Given the description of an element on the screen output the (x, y) to click on. 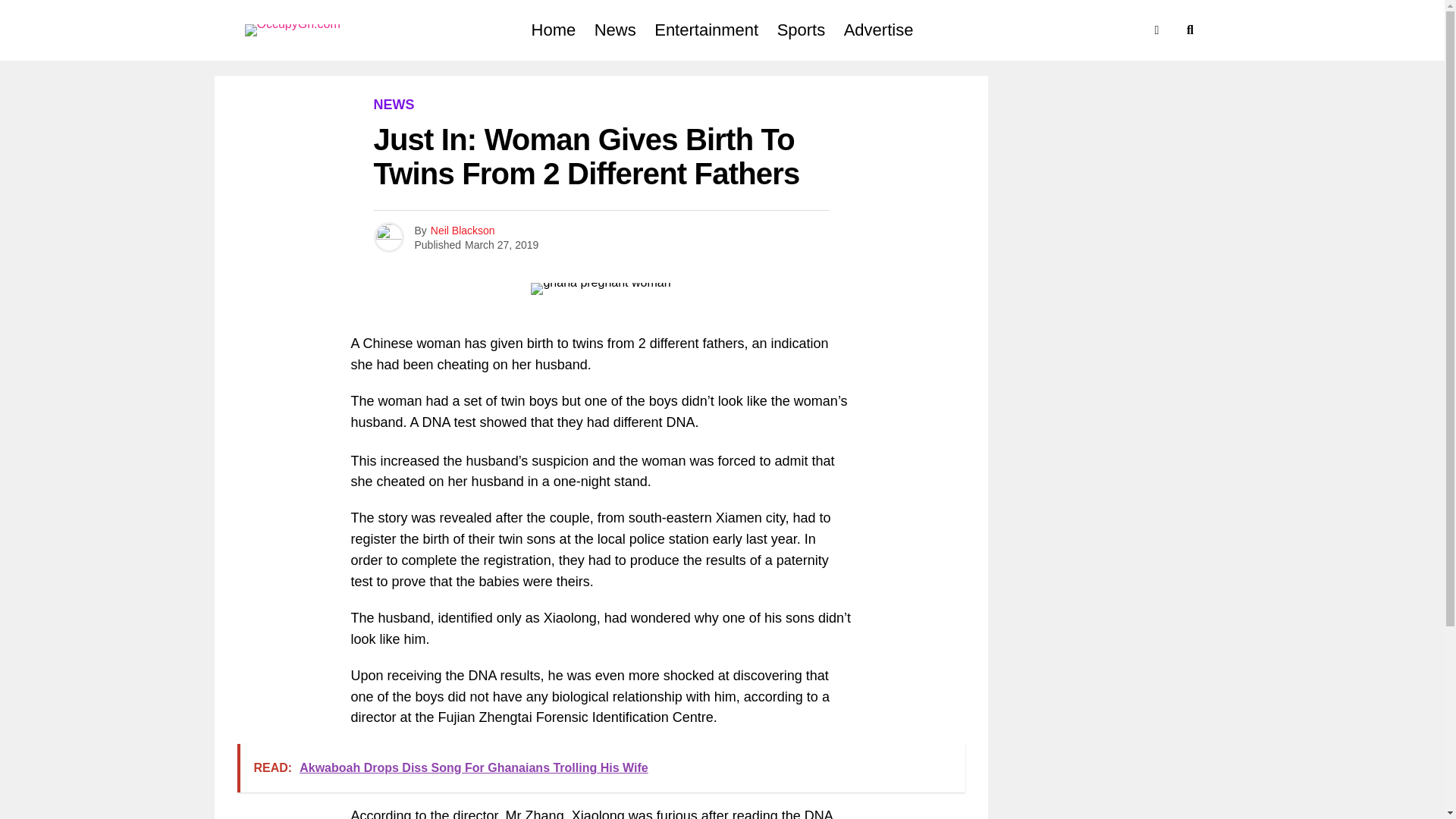
Neil Blackson (462, 230)
Advertise (878, 30)
Entertainment (705, 30)
Sports (801, 30)
Home (553, 30)
Posts by Neil Blackson (462, 230)
NEWS (392, 104)
News (614, 30)
